Given the description of an element on the screen output the (x, y) to click on. 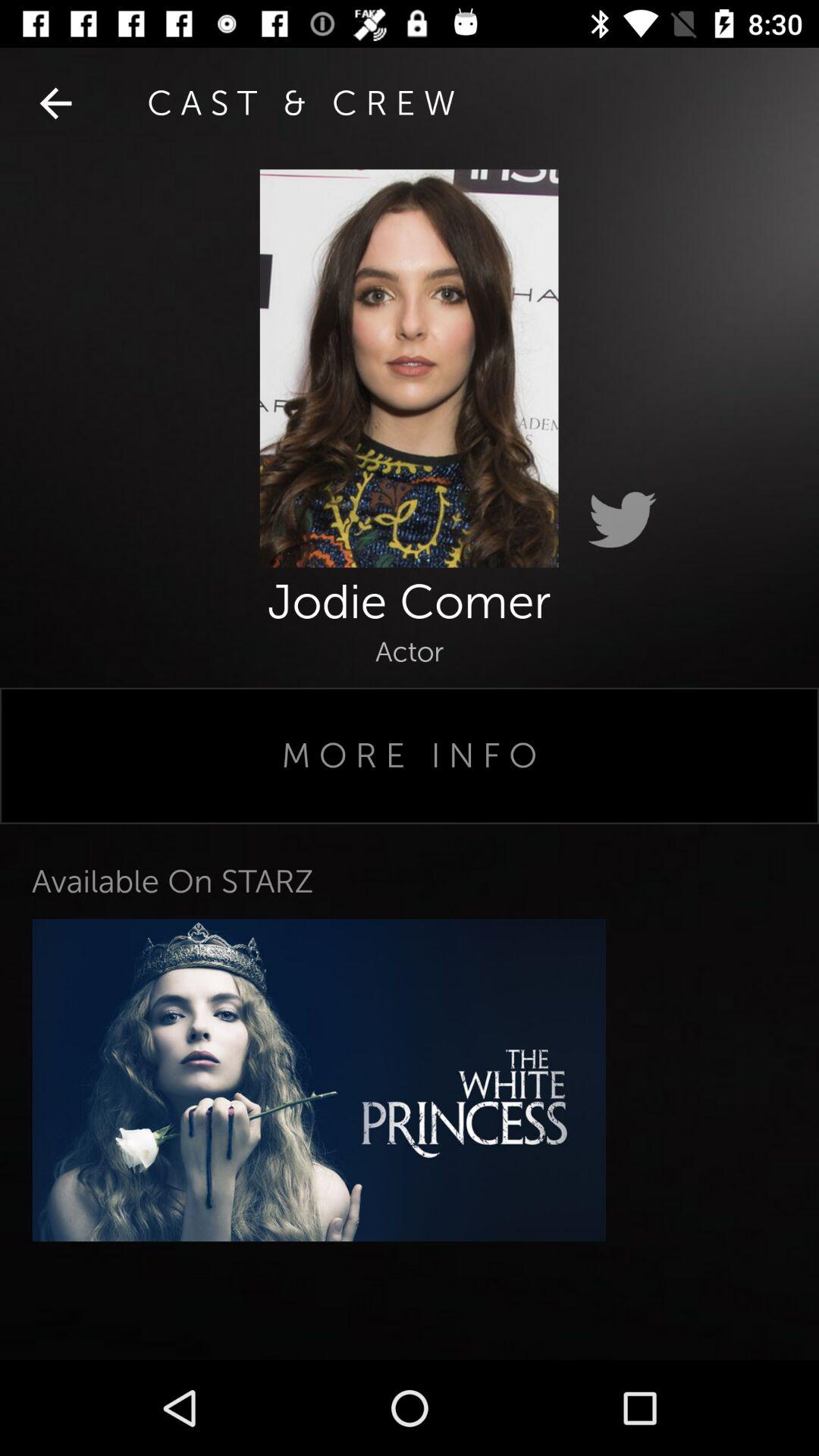
launch the icon to the left of cast & crew icon (55, 103)
